Given the description of an element on the screen output the (x, y) to click on. 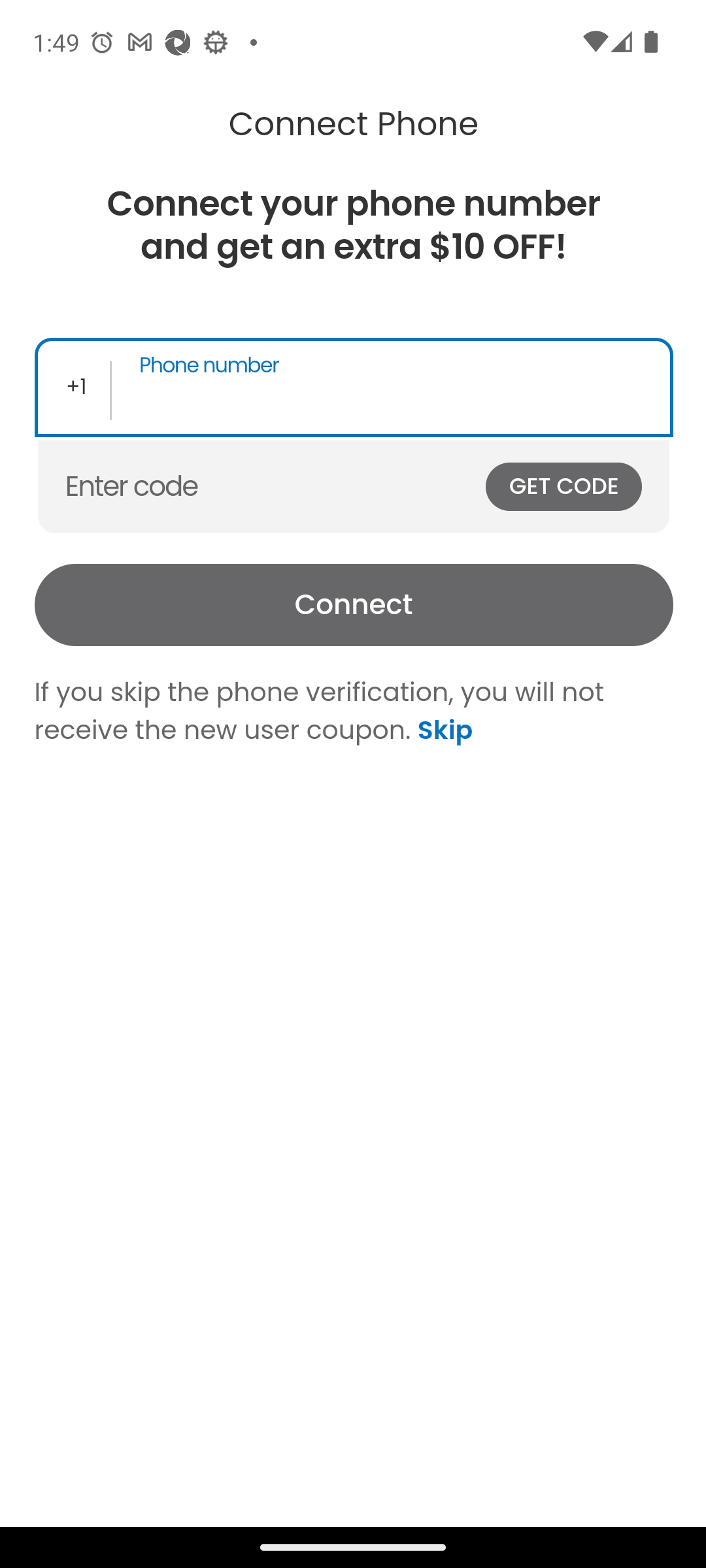
GET CODE (564, 486)
Connect (352, 605)
Skip (441, 729)
